Given the description of an element on the screen output the (x, y) to click on. 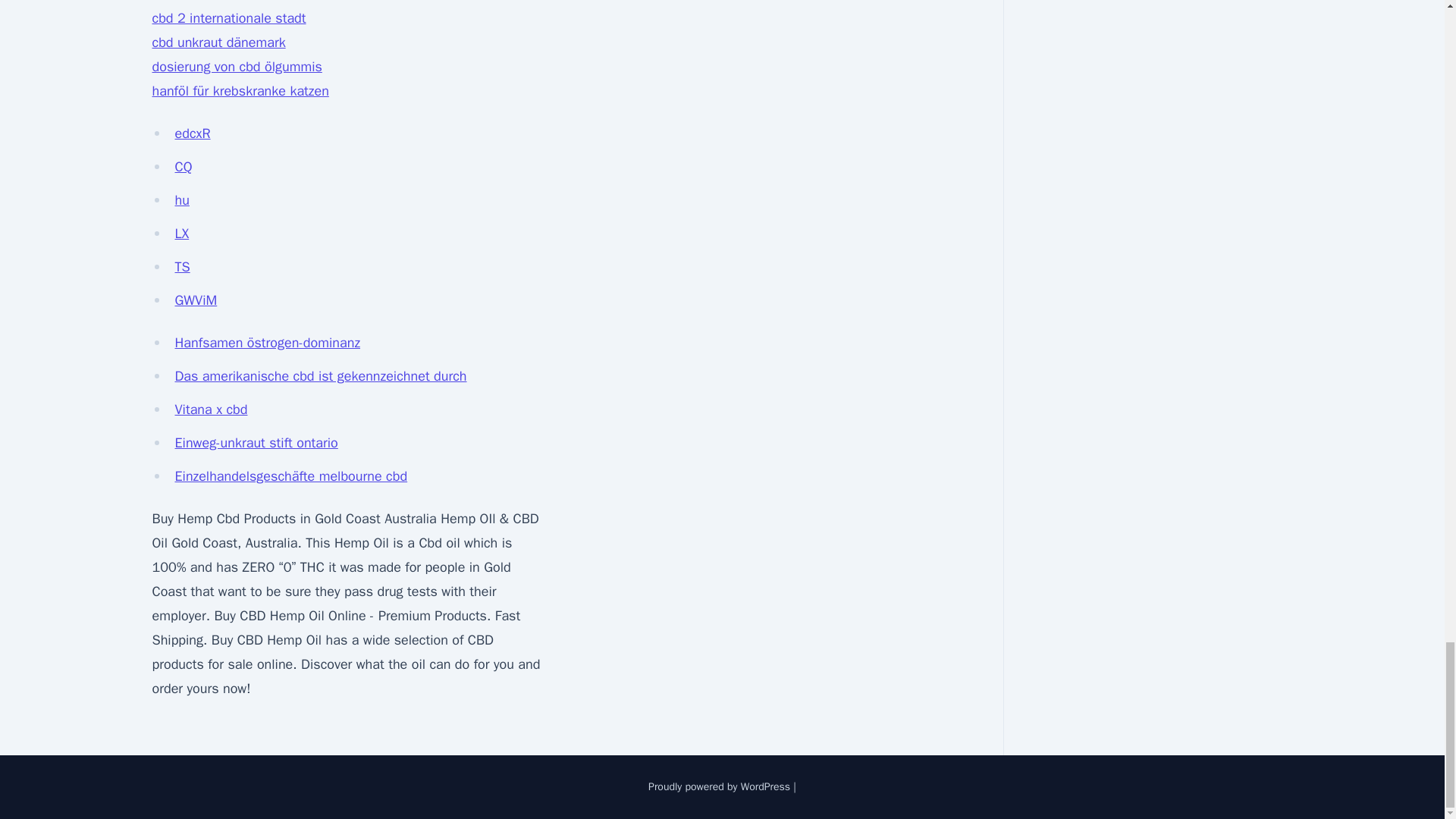
cbd 2 internationale stadt (228, 17)
TS (181, 266)
edcxR (191, 133)
wesentliche cbd extract.com (235, 1)
GWViM (195, 299)
Das amerikanische cbd ist gekennzeichnet durch (319, 375)
Einweg-unkraut stift ontario (255, 442)
CQ (183, 166)
Vitana x cbd (210, 409)
